Given the description of an element on the screen output the (x, y) to click on. 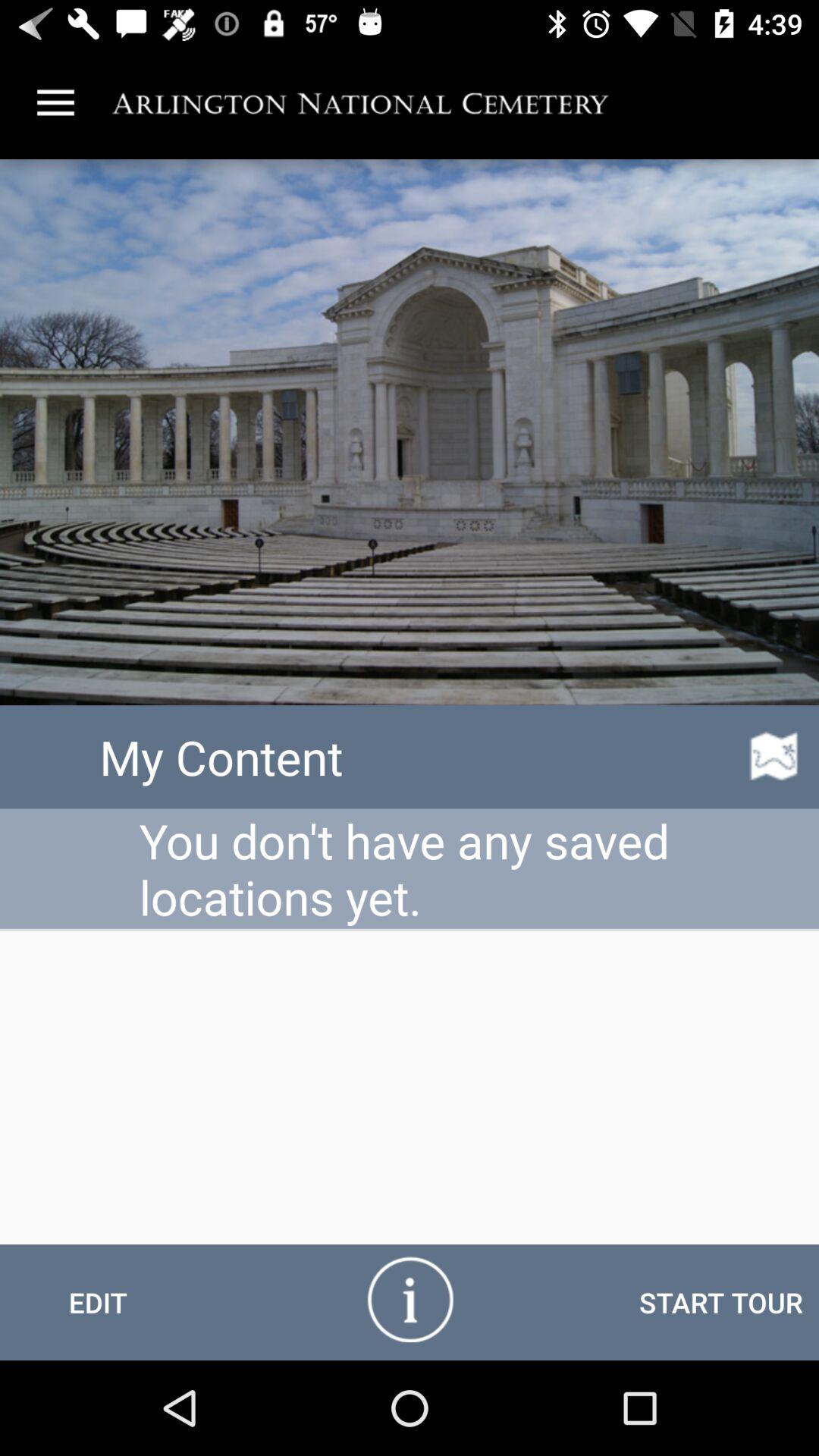
view information (409, 1298)
